Given the description of an element on the screen output the (x, y) to click on. 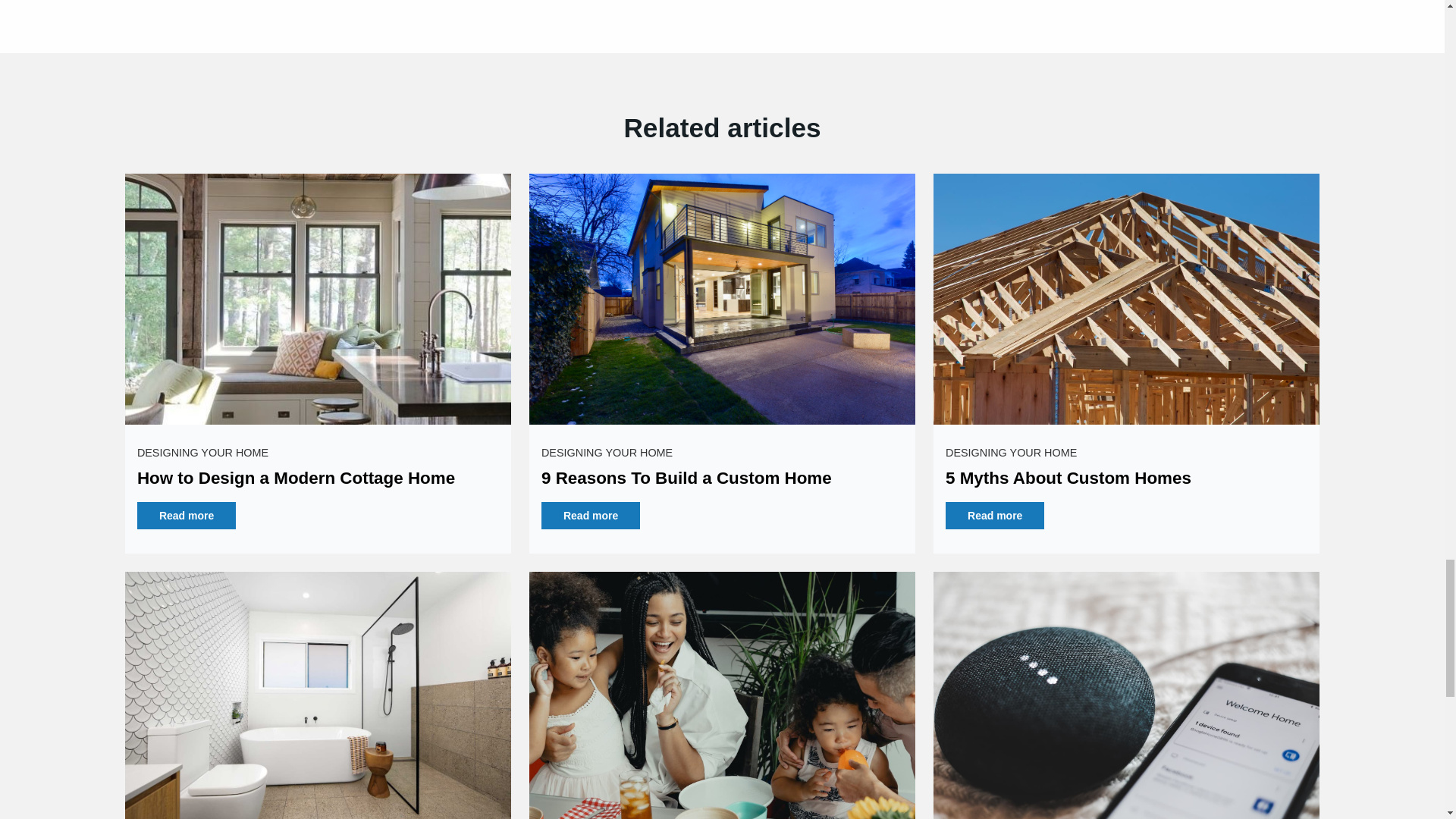
How to Design a Modern Cottage Home (295, 477)
Read more (590, 515)
5 Myths About Custom Homes (1067, 477)
DESIGNING YOUR HOME (1010, 452)
DESIGNING YOUR HOME (606, 452)
DESIGNING YOUR HOME (201, 452)
9 Reasons To Build a Custom Home (686, 477)
Read more (185, 515)
